Given the description of an element on the screen output the (x, y) to click on. 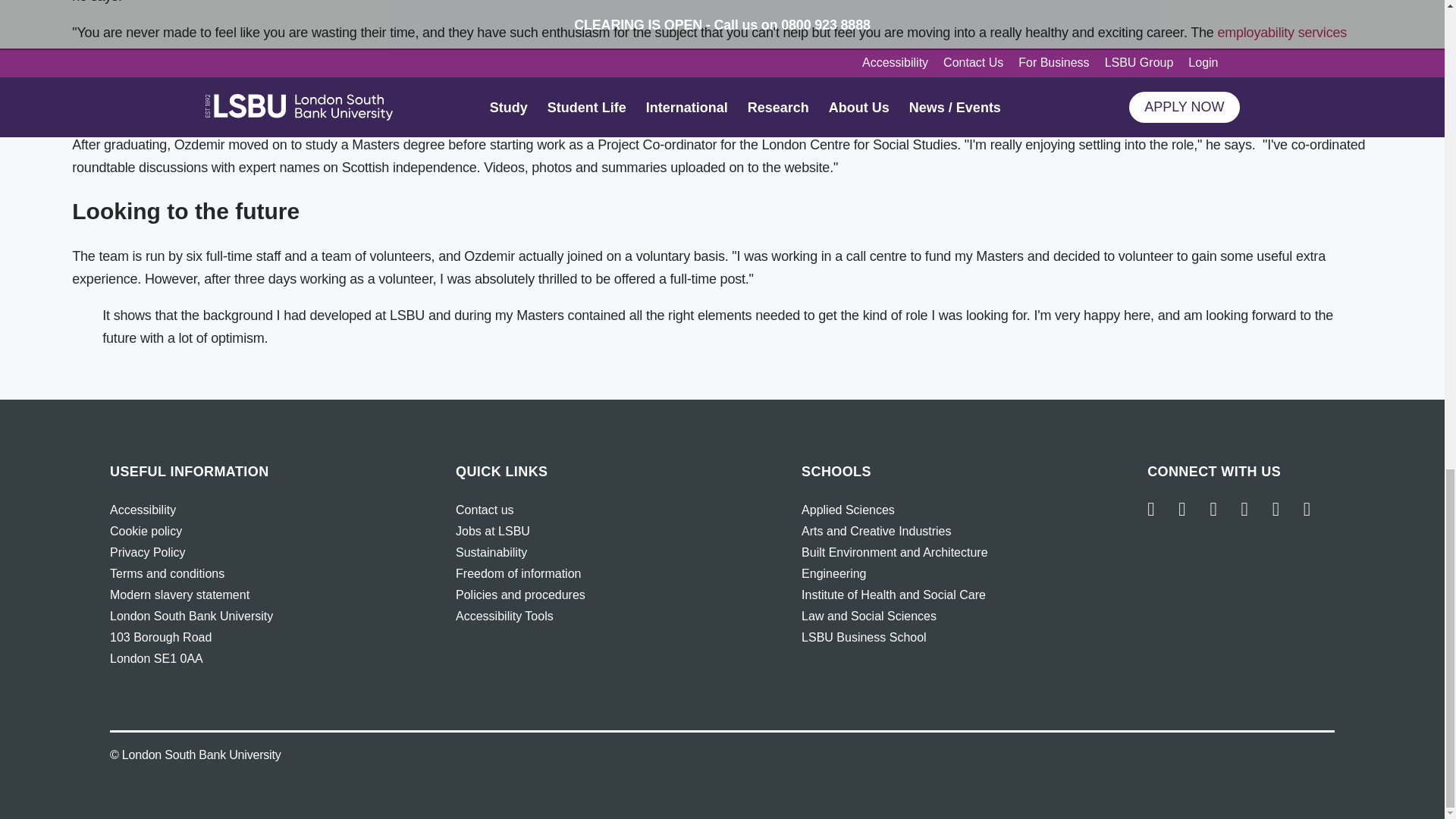
Privacy Policy (148, 552)
Policies and procedures (520, 594)
Terms and conditions (167, 573)
Cookie policy (146, 530)
Freedom of information (517, 573)
Employability (1281, 32)
Modern slavery statement (179, 594)
Applied Sciences (848, 509)
Arts and Creative Industries (876, 530)
Sustainability (491, 552)
